Given the description of an element on the screen output the (x, y) to click on. 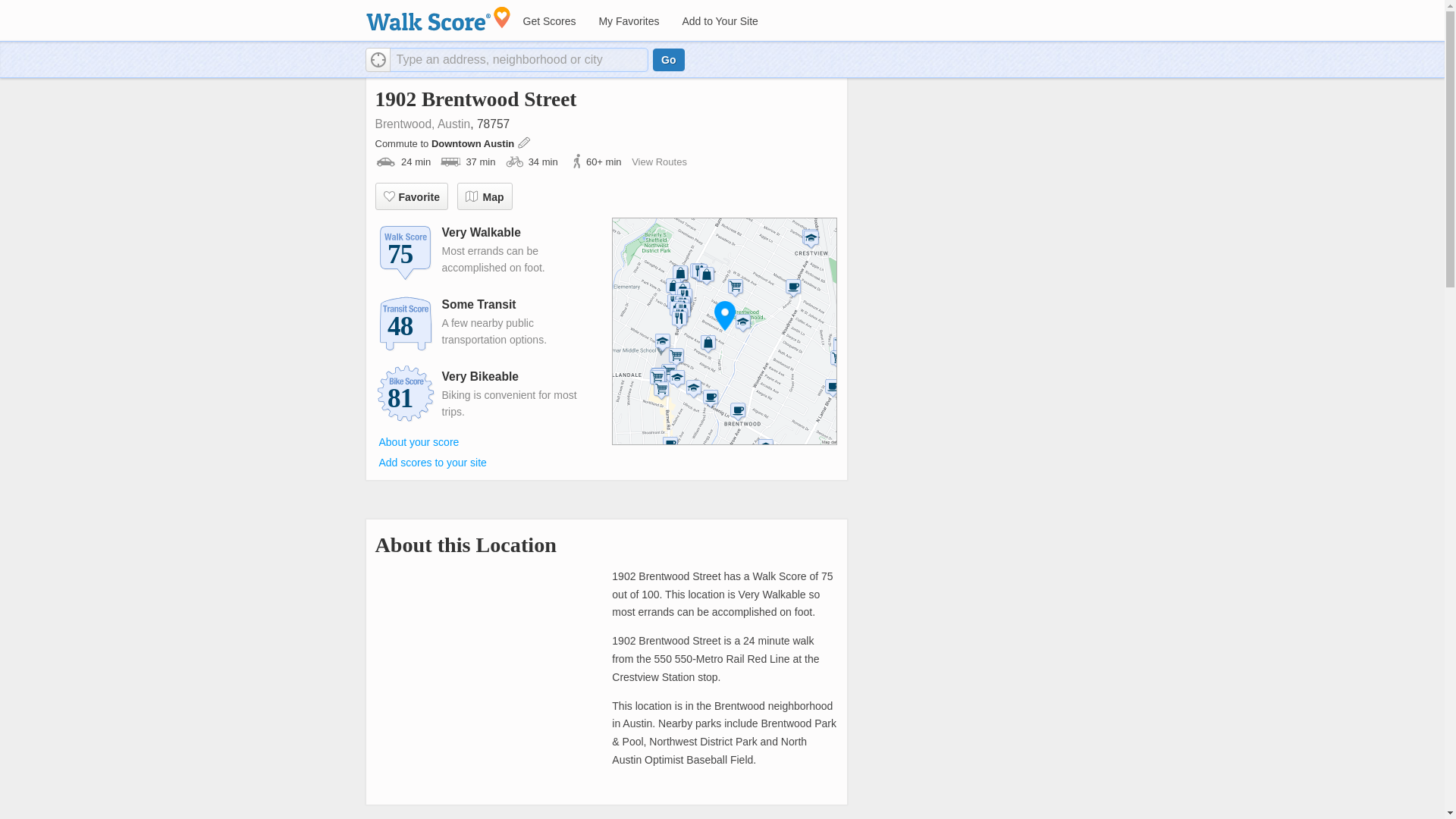
Get Scores (548, 21)
Add to Your Site (719, 21)
Add scores to your site (432, 462)
View Routes (659, 161)
My Favorites (628, 21)
Map (484, 195)
Downtown Austin (473, 143)
Go (668, 59)
Brentwood, (403, 123)
Favorite (410, 195)
Austin (454, 123)
About your score (419, 442)
